Given the description of an element on the screen output the (x, y) to click on. 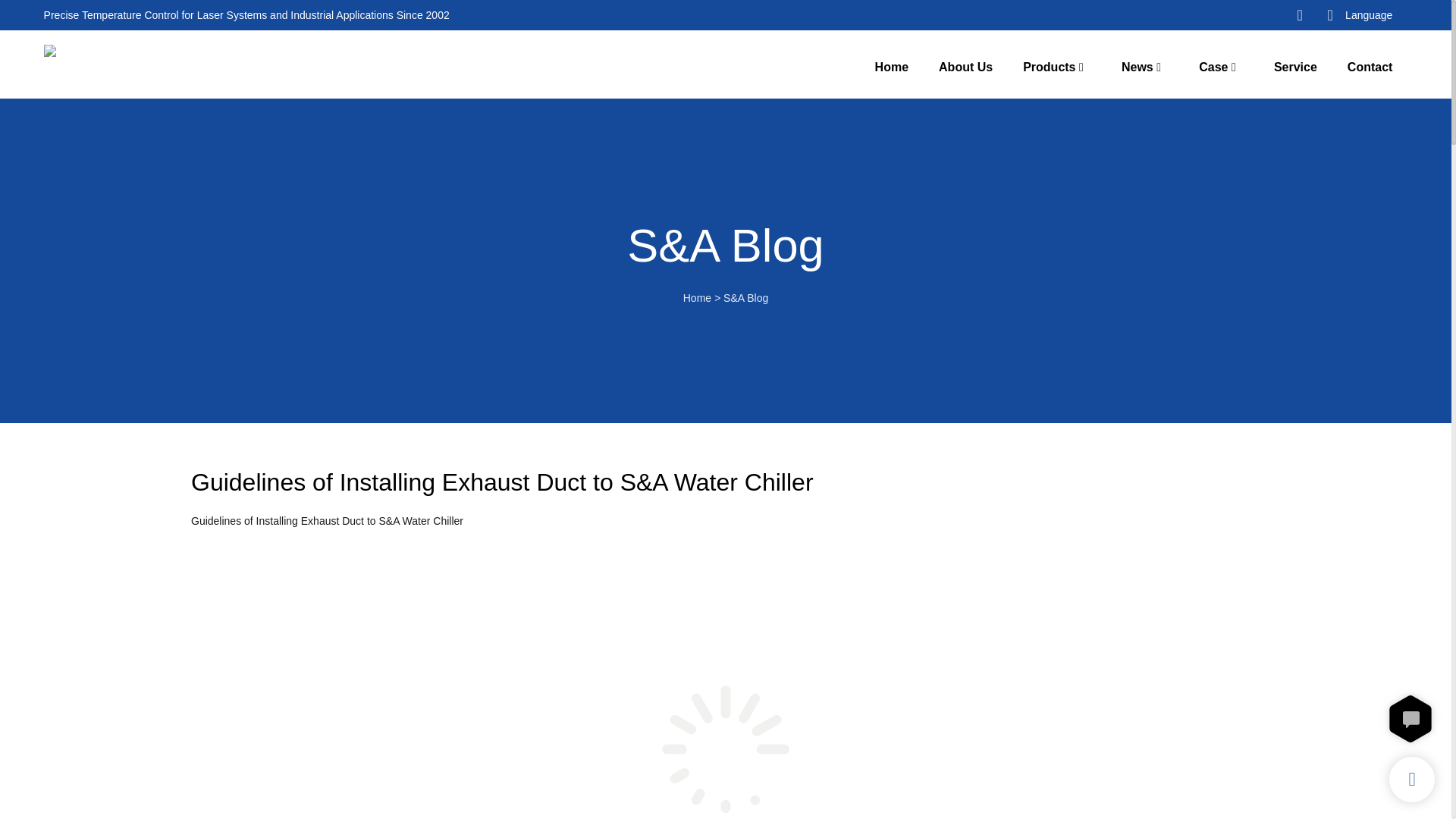
About Us (965, 66)
Home (696, 297)
Home (891, 66)
Contact (1370, 66)
Products (1049, 66)
Service (1295, 66)
News (1137, 66)
Case (1212, 66)
